Given the description of an element on the screen output the (x, y) to click on. 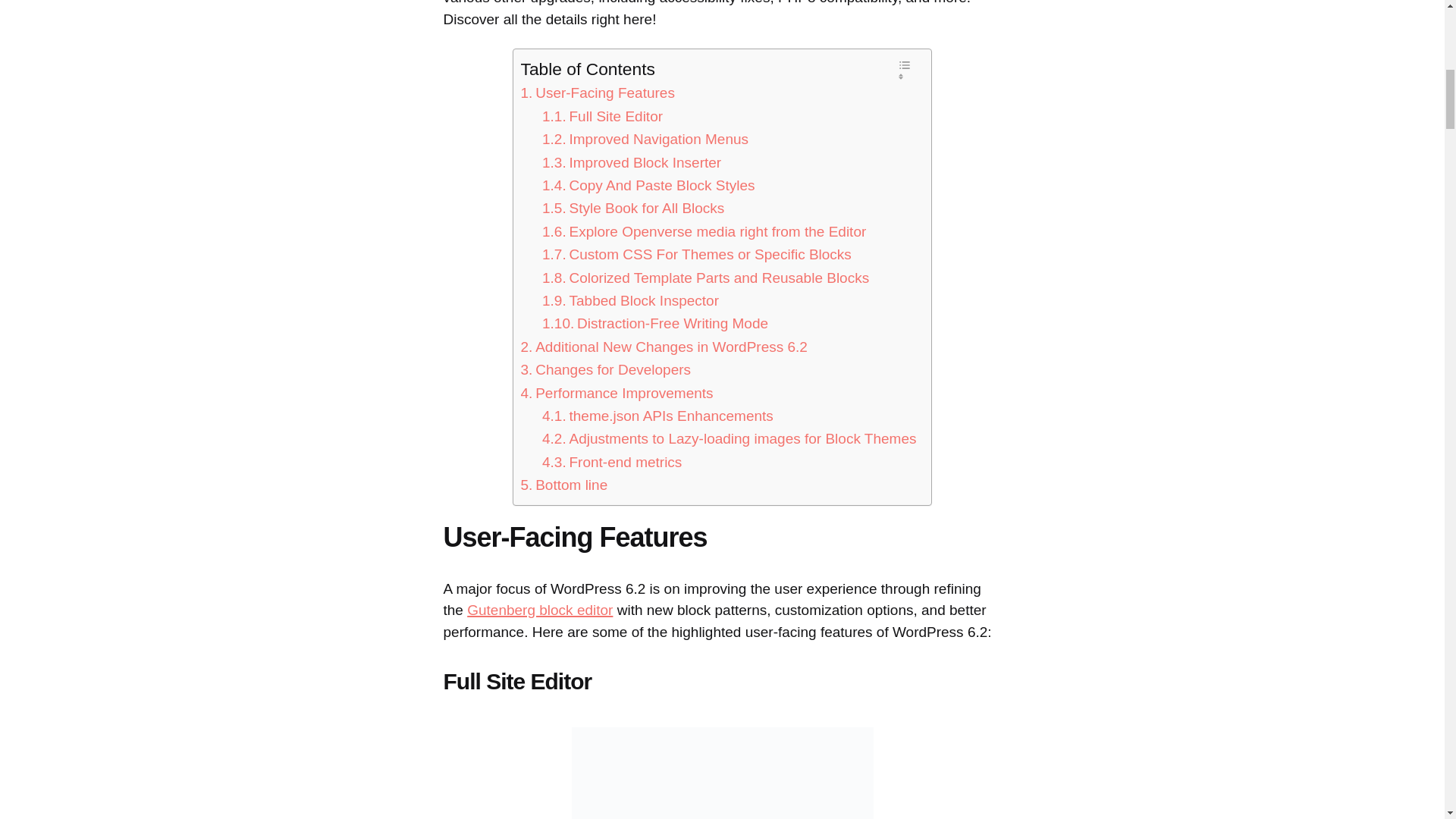
Additional New Changes in WordPress 6.2 (662, 346)
Changes for Developers (604, 369)
Tabbed Block Inspector (630, 300)
Style Book for All Blocks (632, 208)
Improved Navigation Menus (644, 138)
User-Facing Features (596, 92)
Improved Block Inserter (630, 162)
Colorized Template Parts and Reusable Blocks (705, 277)
Full Site Editor (601, 116)
Custom CSS For Themes or Specific Blocks (696, 254)
Copy And Paste Block Styles (648, 185)
Distraction-Free Writing Mode (654, 323)
Explore Openverse media right from the Editor (703, 231)
